Given the description of an element on the screen output the (x, y) to click on. 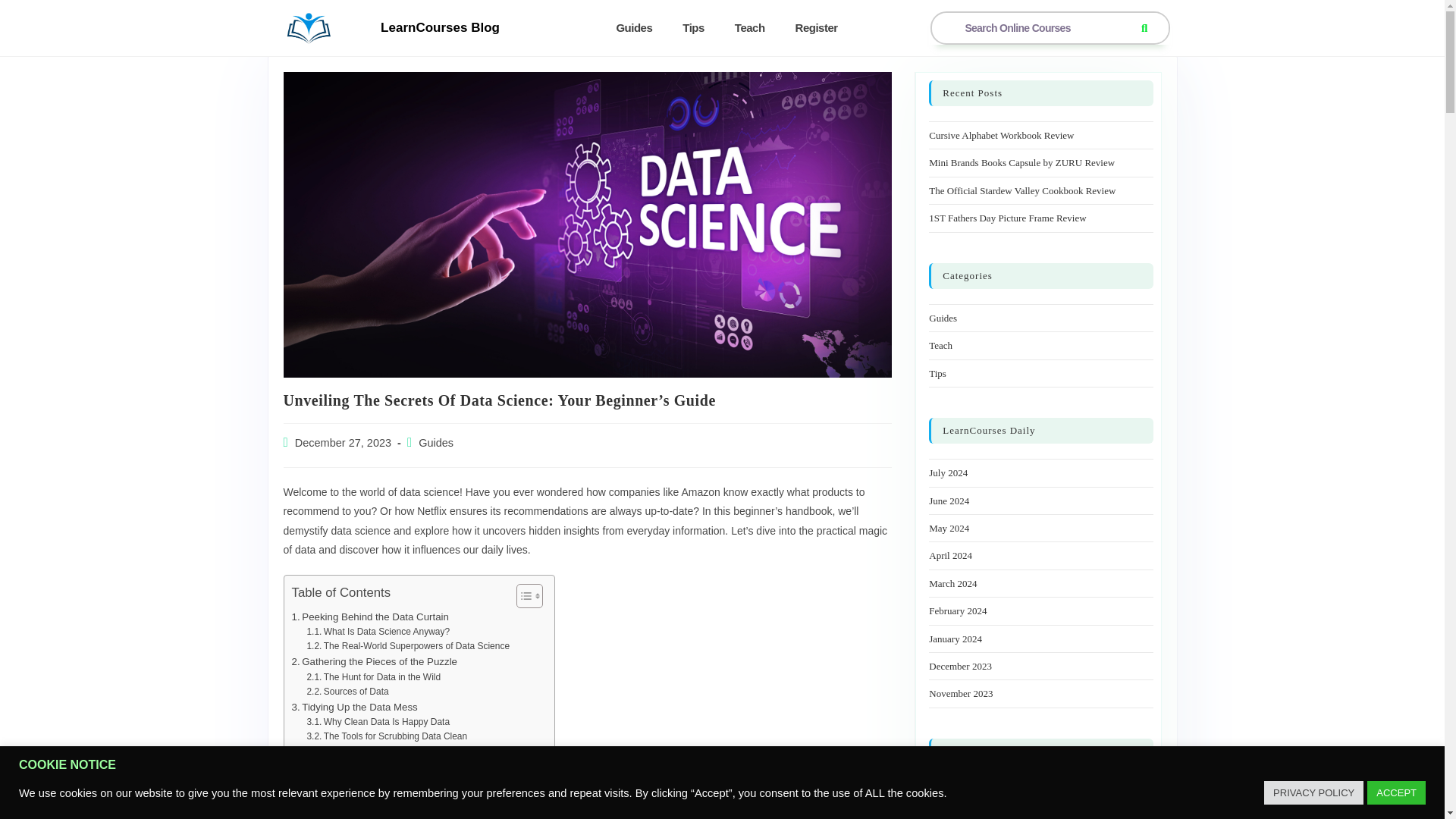
Gathering the Pieces of the Puzzle (374, 661)
Unleashing Patterns with Exploratory Analysis (406, 767)
The Tools for Scrubbing Data Clean (386, 736)
Peeking Behind the Data Curtain (369, 616)
Register (816, 28)
Sources of Data (346, 691)
Why Clean Data Is Happy Data (377, 721)
Tidying Up the Data Mess (353, 706)
Peeking Behind the Data Curtain (369, 616)
The Wizardry of Machine Learning (373, 797)
Gathering the Pieces of the Puzzle (374, 661)
Guides (435, 442)
The Real-World Superpowers of Data Science (407, 646)
Tidying Up the Data Mess (353, 706)
Teaching Machines to Learn from Data (392, 812)
